Given the description of an element on the screen output the (x, y) to click on. 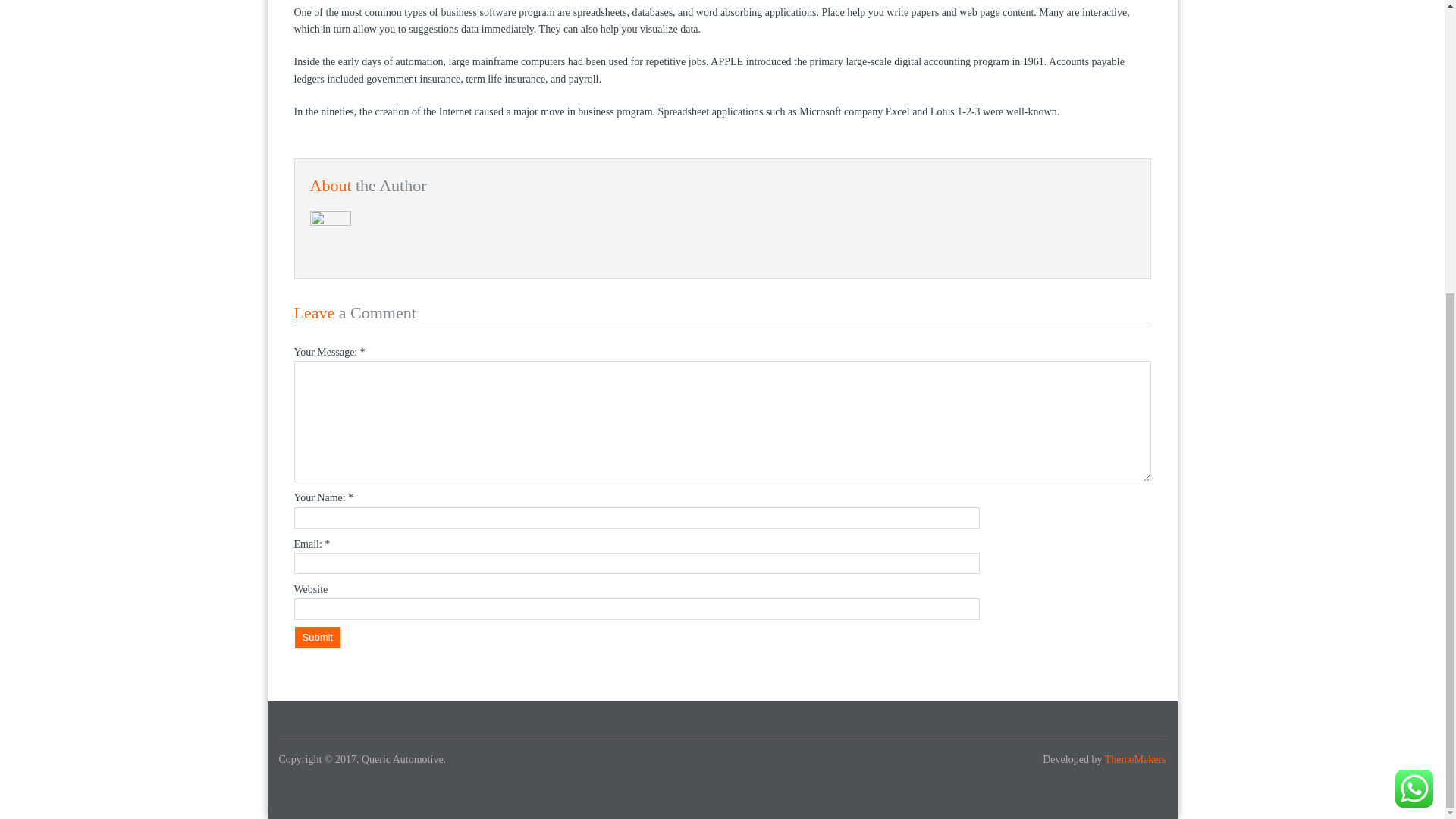
Submit (316, 637)
ThemeMakers (1135, 758)
Submit (316, 637)
